Given the description of an element on the screen output the (x, y) to click on. 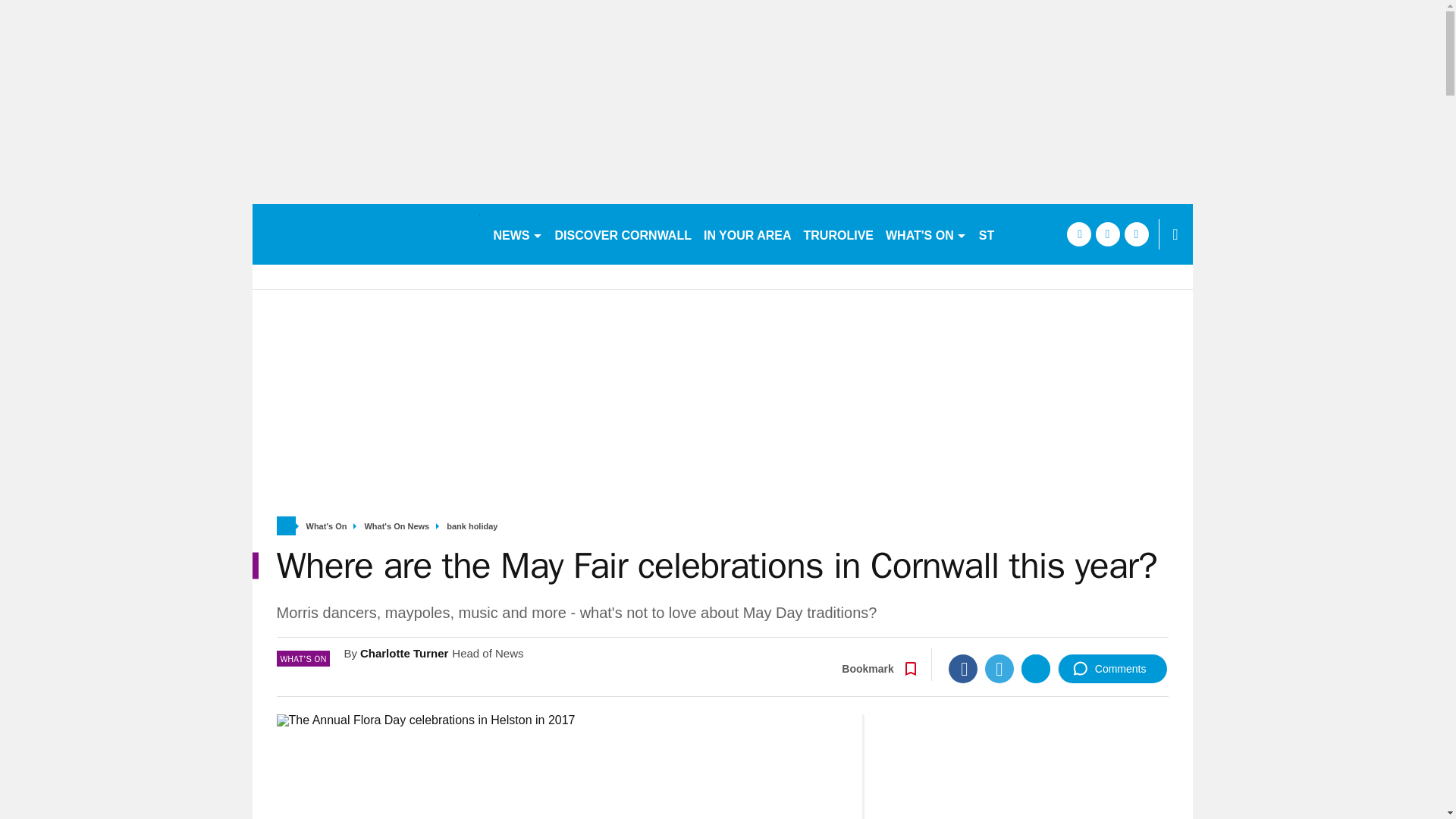
DISCOVER CORNWALL (622, 233)
cornwalllive (365, 233)
instagram (1136, 233)
IN YOUR AREA (747, 233)
TRUROLIVE (838, 233)
NEWS (517, 233)
twitter (1106, 233)
ST AUSTELL (1015, 233)
Comments (1112, 668)
Twitter (999, 668)
